Given the description of an element on the screen output the (x, y) to click on. 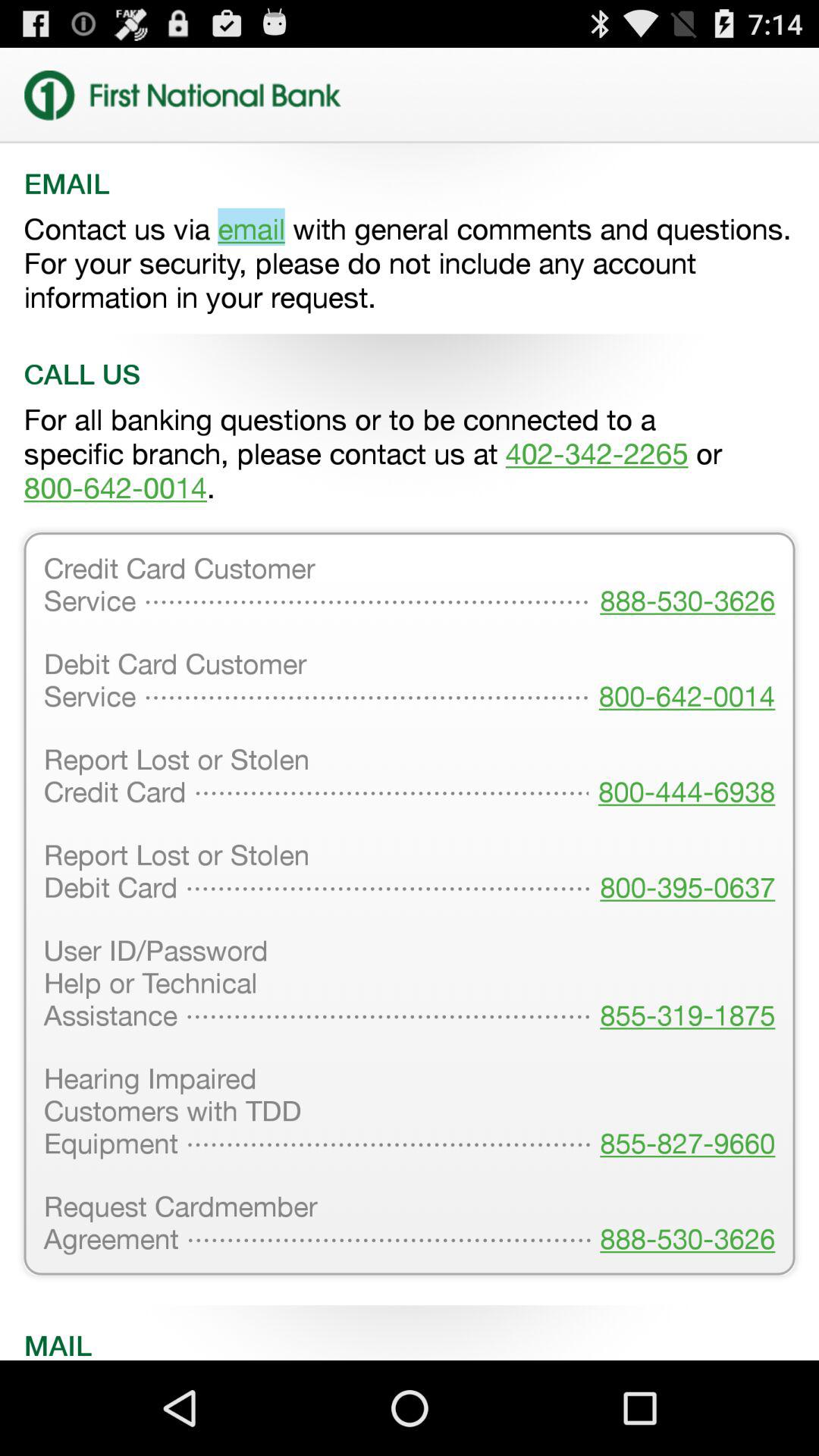
jump until 855-319-1875 (682, 984)
